Given the description of an element on the screen output the (x, y) to click on. 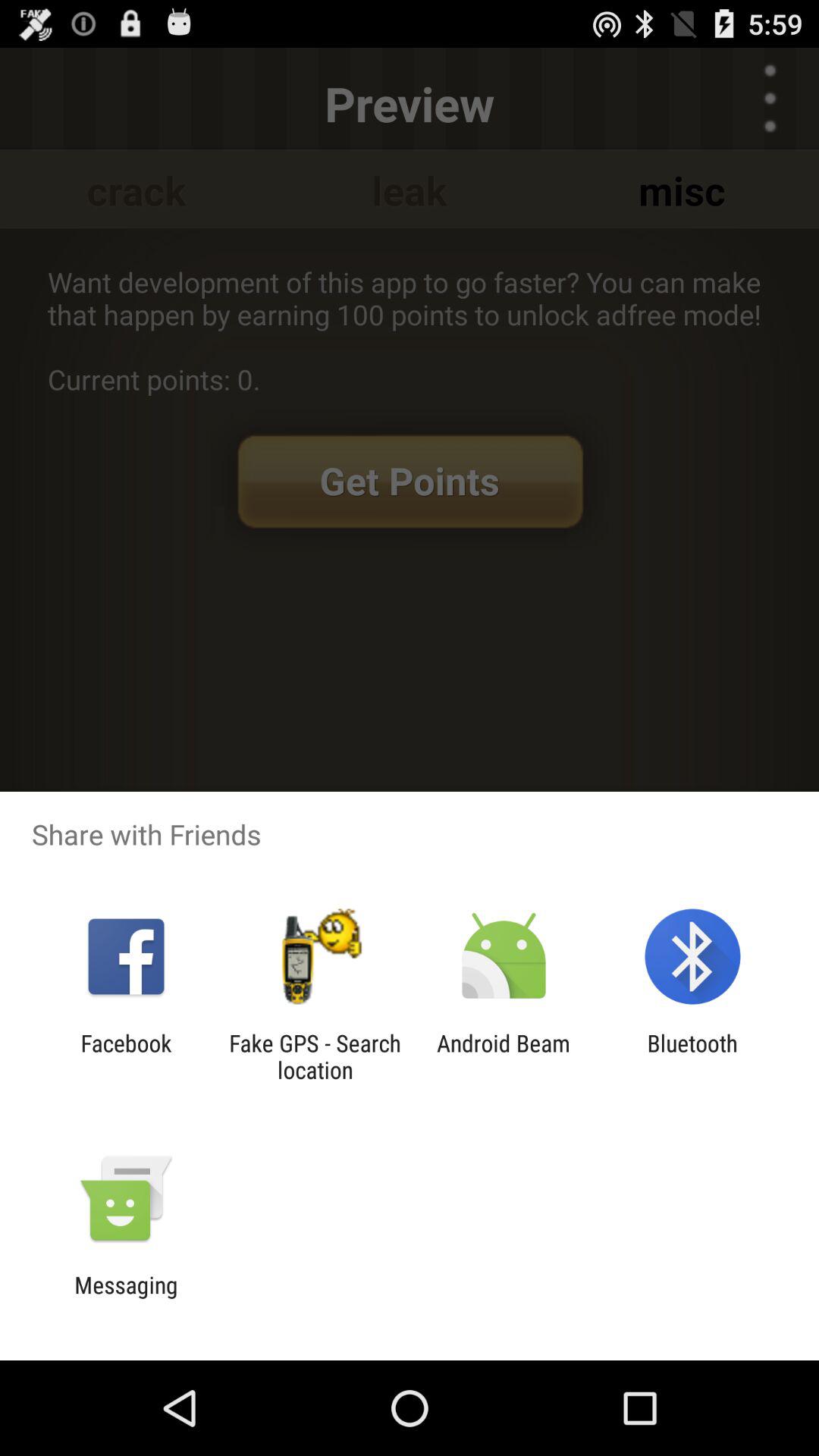
open the icon next to fake gps search app (125, 1056)
